Given the description of an element on the screen output the (x, y) to click on. 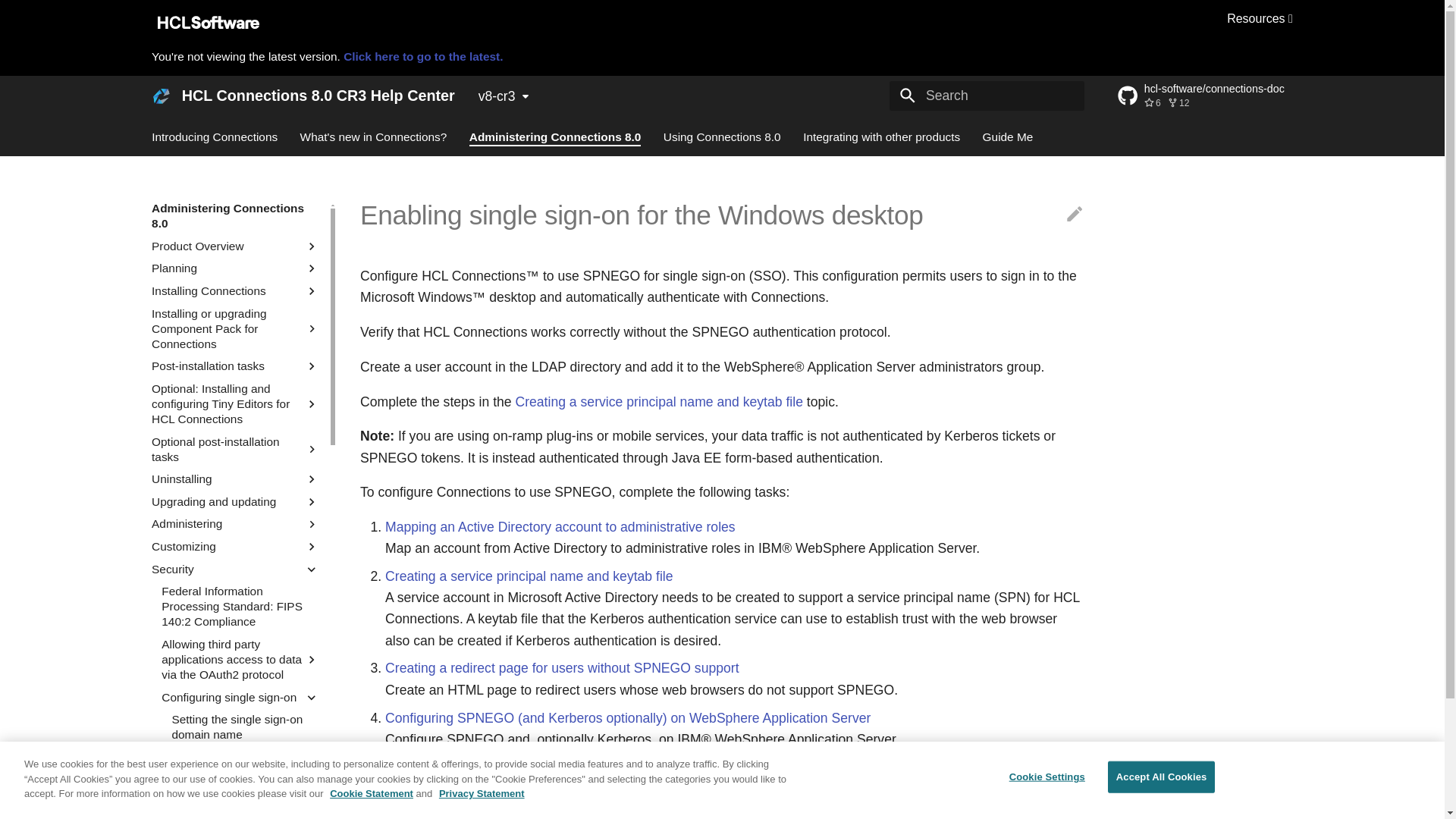
Product Overview (227, 246)
HCL Connections 8.0 CR3 Help Center (160, 95)
Planning (227, 268)
Using Connections 8.0 (721, 136)
Administering Connections 8.0 (234, 215)
v8-cr3 (503, 96)
Administering Connections 8.0 (555, 136)
Integrating with other products (881, 136)
Go to repository (1205, 96)
Introducing Connections (214, 136)
